Given the description of an element on the screen output the (x, y) to click on. 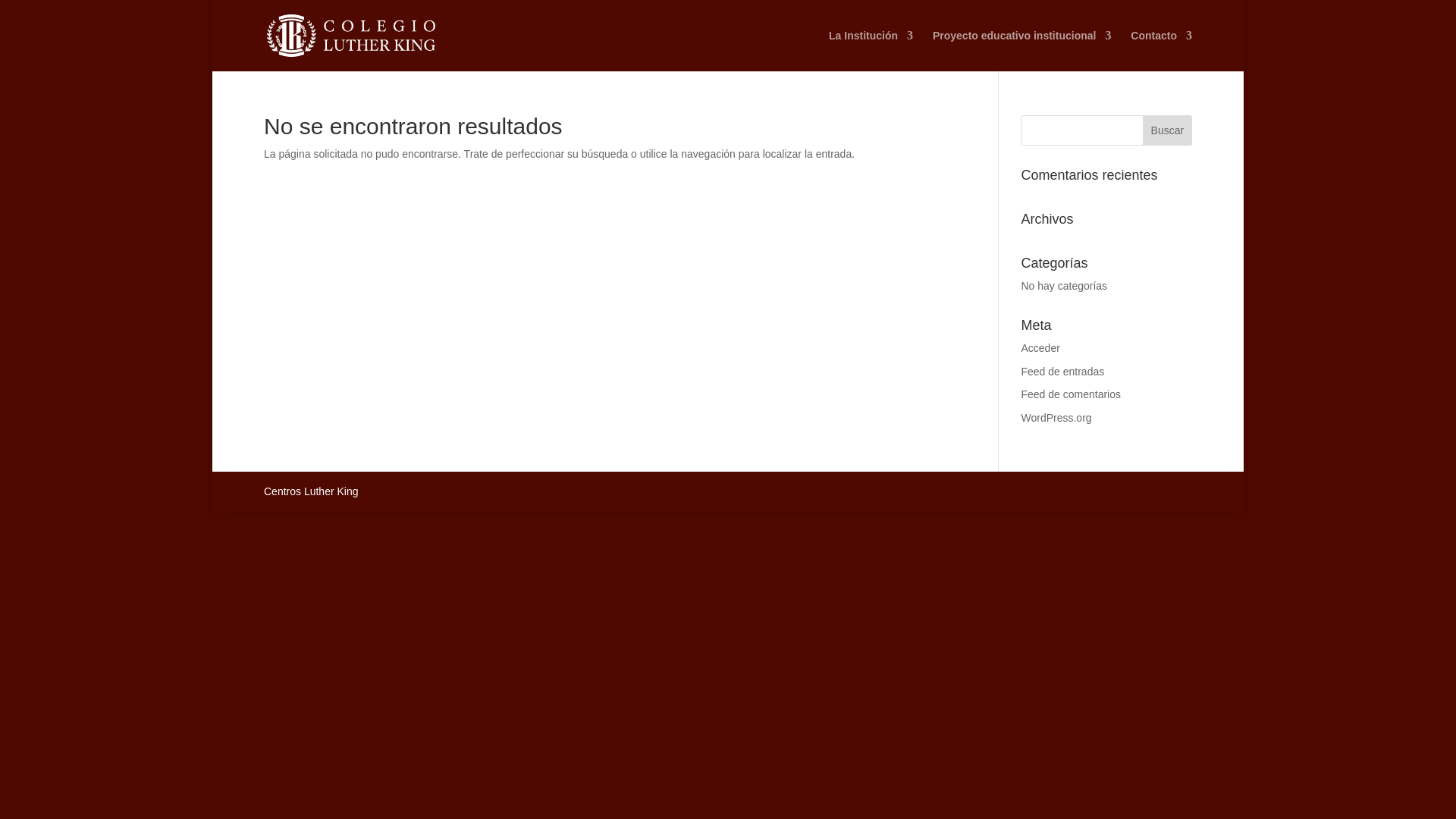
Buscar (1167, 130)
Feed de entradas (1061, 371)
Contacto (1161, 50)
WordPress.org (1055, 417)
Feed de comentarios (1070, 394)
Buscar (1167, 130)
Proyecto educativo institucional (1022, 50)
Acceder (1039, 347)
